Given the description of an element on the screen output the (x, y) to click on. 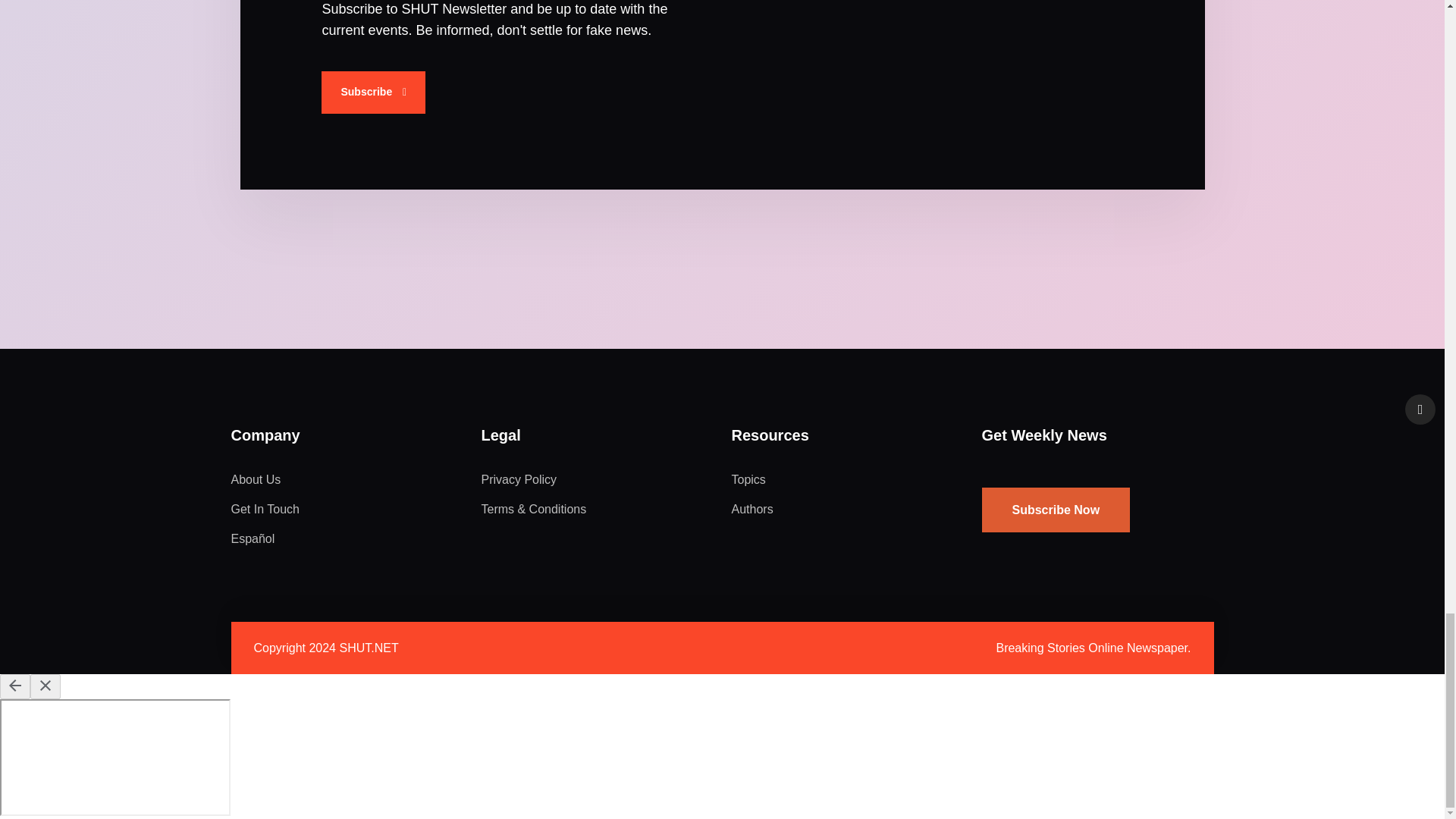
About Us (255, 479)
Privacy Policy (518, 479)
Subscribe (373, 92)
Get In Touch (264, 508)
